Given the description of an element on the screen output the (x, y) to click on. 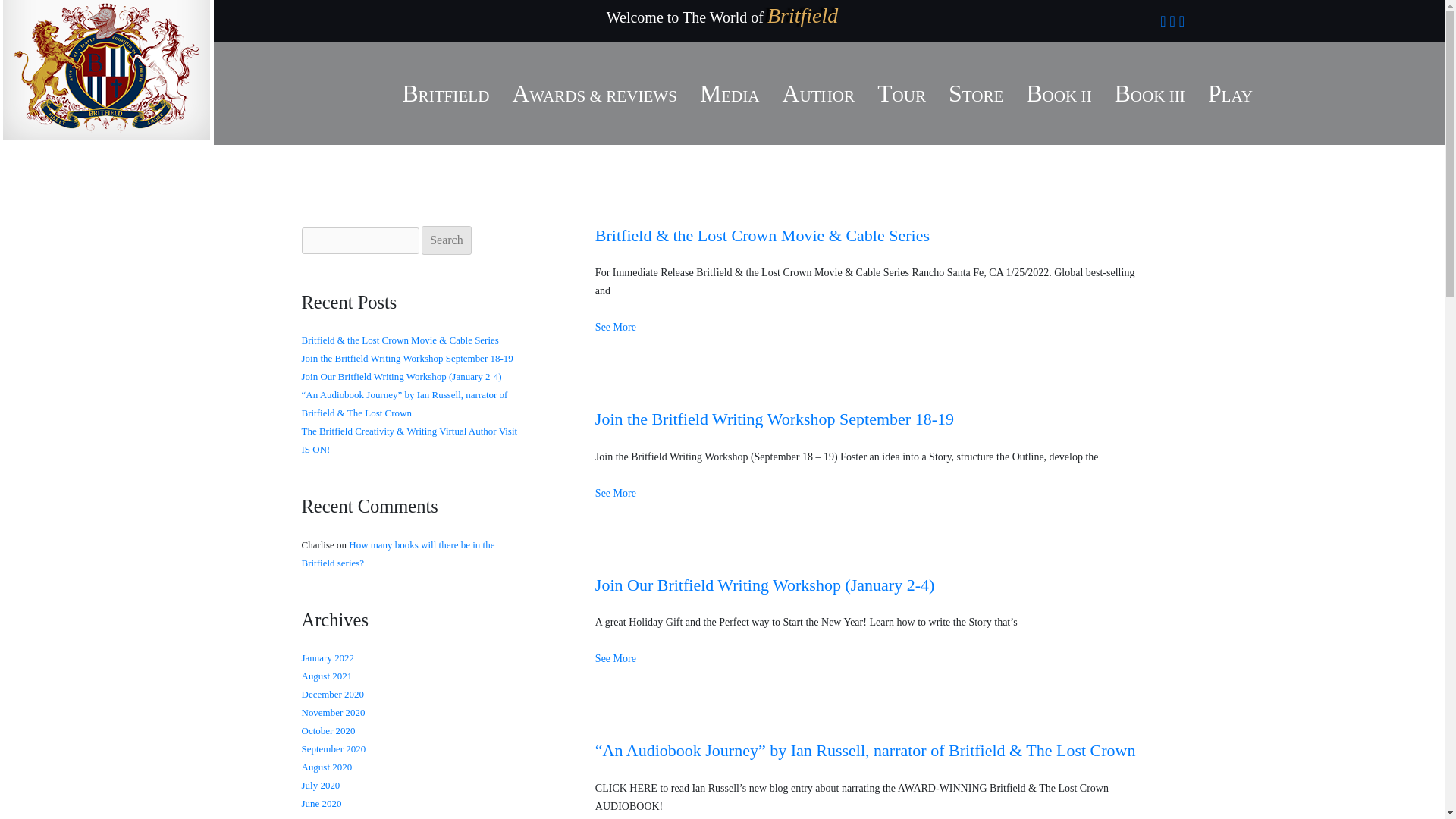
PLAY (1230, 94)
STORE (976, 94)
AUTHOR (819, 94)
MEDIA (730, 94)
See More (615, 492)
See More (615, 658)
BOOK II (1058, 94)
BOOK III (1150, 94)
TOUR (901, 94)
Join the Britfield Writing Workshop September 18-19 (774, 418)
Search (446, 240)
BRITFIELD (445, 94)
See More (615, 326)
